Given the description of an element on the screen output the (x, y) to click on. 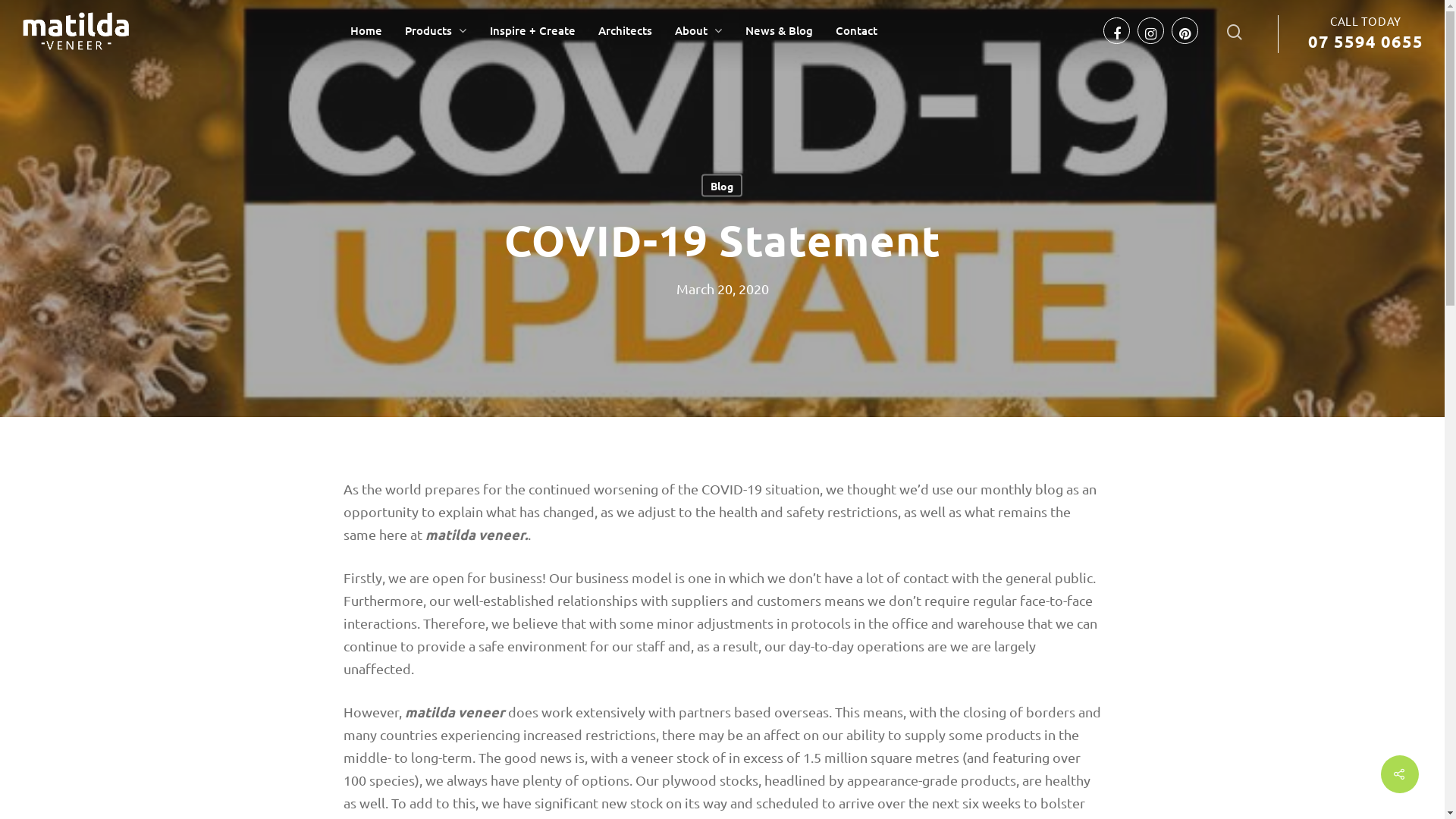
News & Blog Element type: text (778, 29)
Inspire + Create Element type: text (532, 29)
Architects Element type: text (625, 29)
Home Element type: text (366, 29)
Products Element type: text (435, 29)
About Element type: text (698, 29)
Blog Element type: text (721, 185)
Contact Element type: text (856, 29)
07 5594 0655 Element type: text (1365, 41)
